Given the description of an element on the screen output the (x, y) to click on. 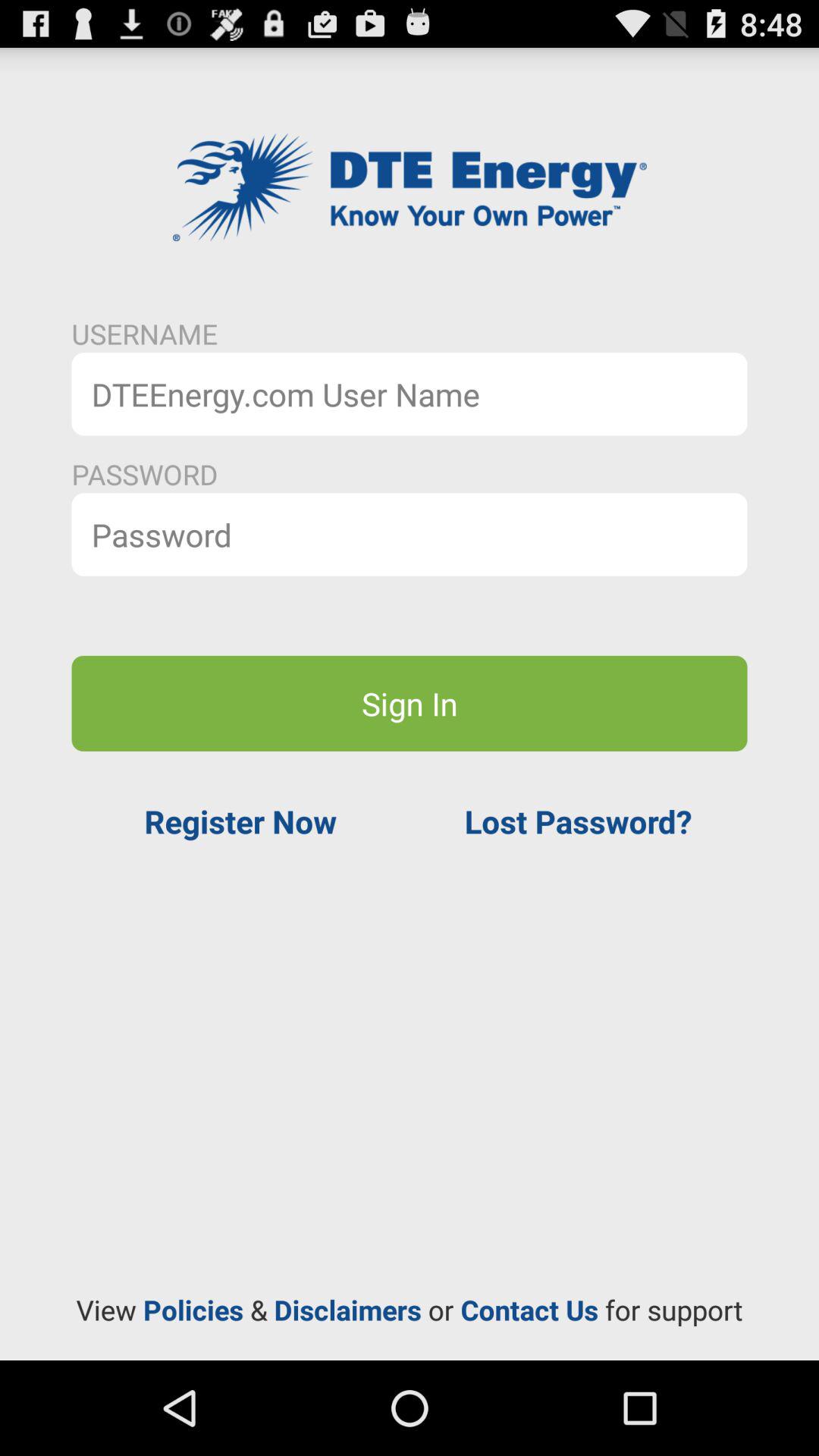
choose the lost password? (578, 820)
